Given the description of an element on the screen output the (x, y) to click on. 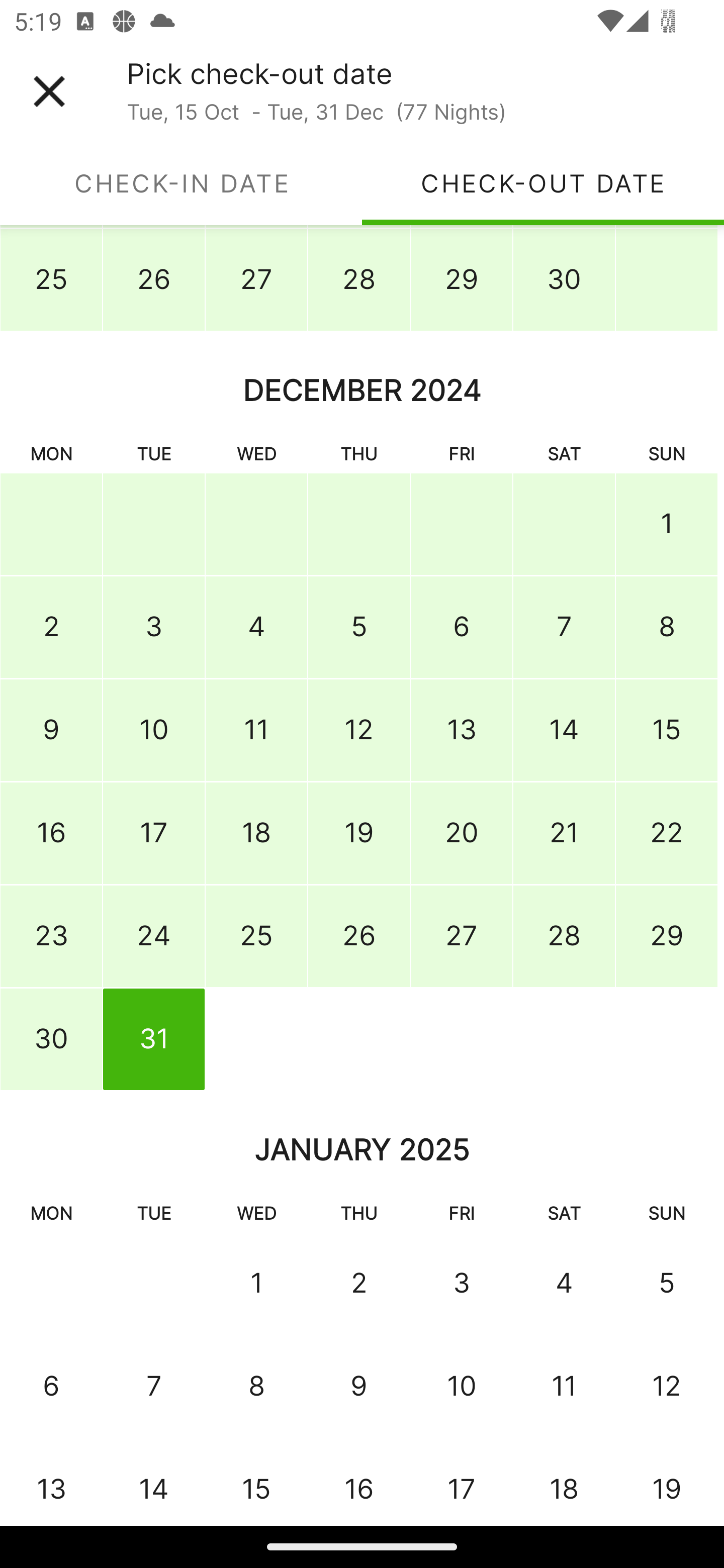
Check-in Date CHECK-IN DATE (181, 183)
